Given the description of an element on the screen output the (x, y) to click on. 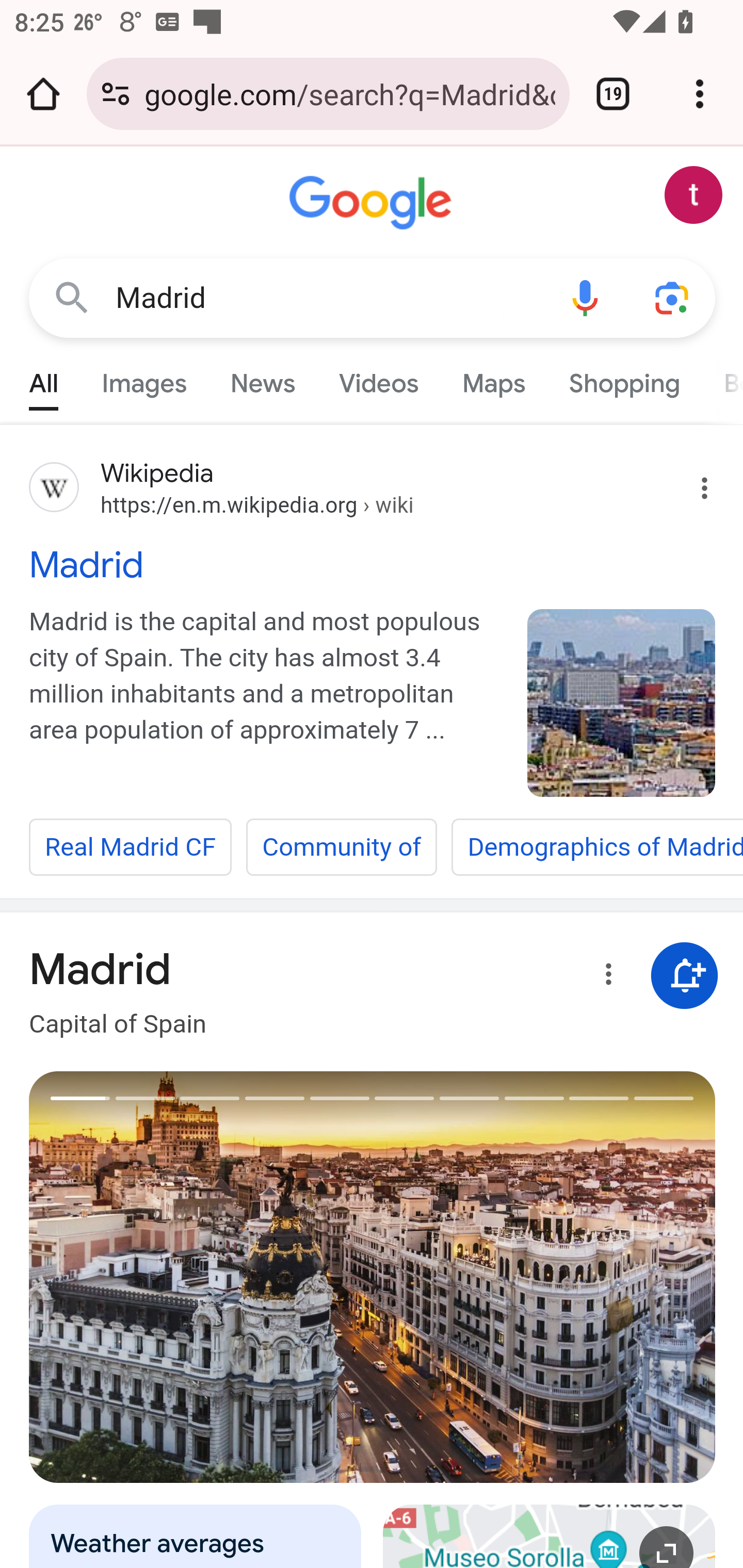
Open the home page (43, 93)
Connection is secure (115, 93)
Switch or close tabs (612, 93)
Customize and control Google Chrome (699, 93)
Google (372, 203)
Google Search (71, 296)
Search using your camera or photos (672, 296)
Madrid (328, 297)
Images (144, 378)
News (262, 378)
Videos (378, 378)
Maps (493, 378)
Shopping (623, 378)
Madrid (372, 564)
Madrid (621, 703)
Real Madrid CF (130, 847)
Community of (341, 847)
Demographics of Madrid (597, 847)
Get notifications about Madrid (684, 976)
More options (605, 976)
Previous image (200, 1276)
Next image (544, 1276)
Weather averages 16° / 6°C High / low • Mar (195, 1535)
Expand map (549, 1535)
